Given the description of an element on the screen output the (x, y) to click on. 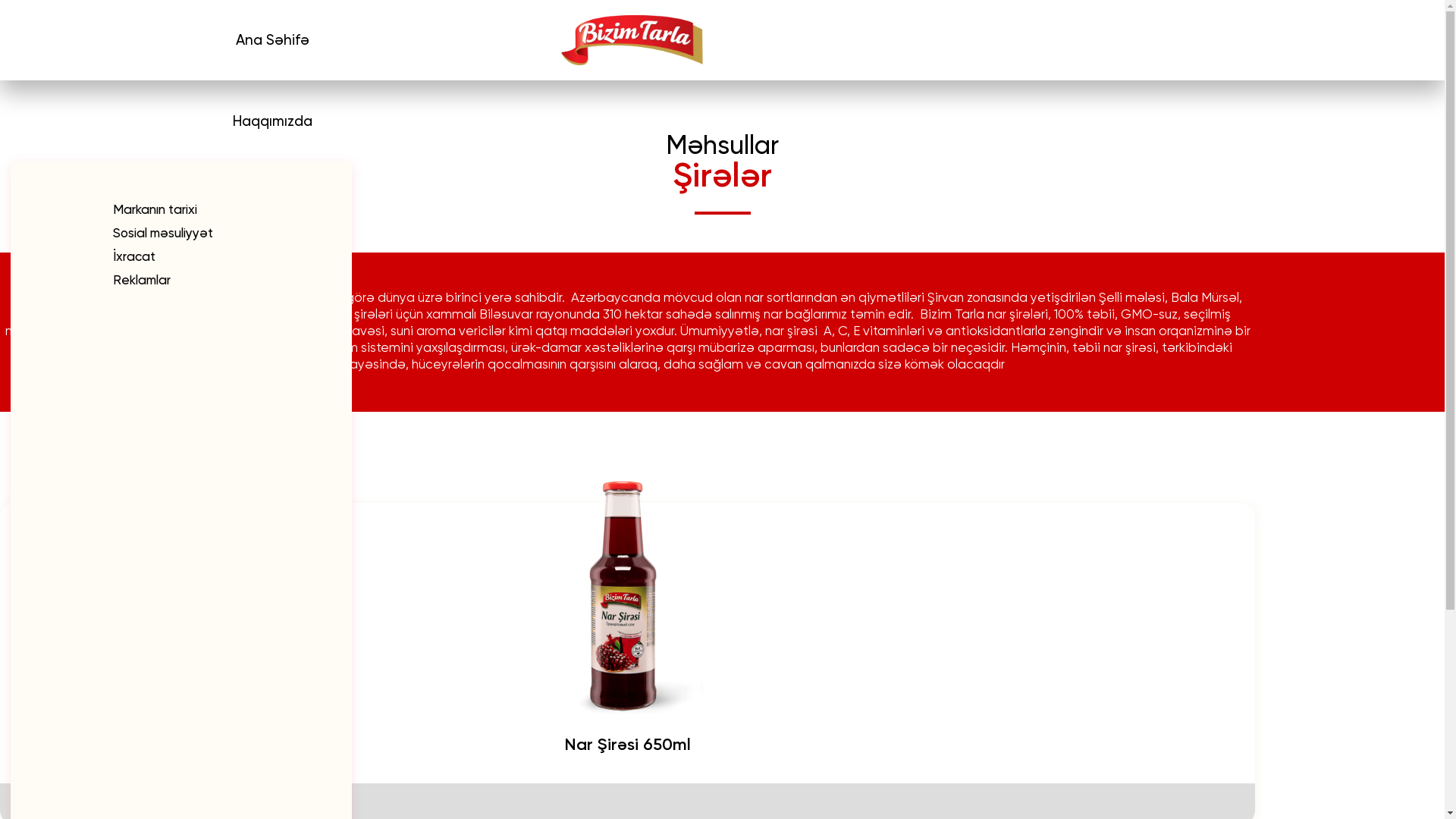
Reklamlar Element type: text (180, 280)
Reseptler Element type: text (160, 283)
AZ Element type: text (167, 653)
AZ Element type: text (272, 608)
EN Element type: text (167, 679)
RU Element type: text (167, 666)
